Given the description of an element on the screen output the (x, y) to click on. 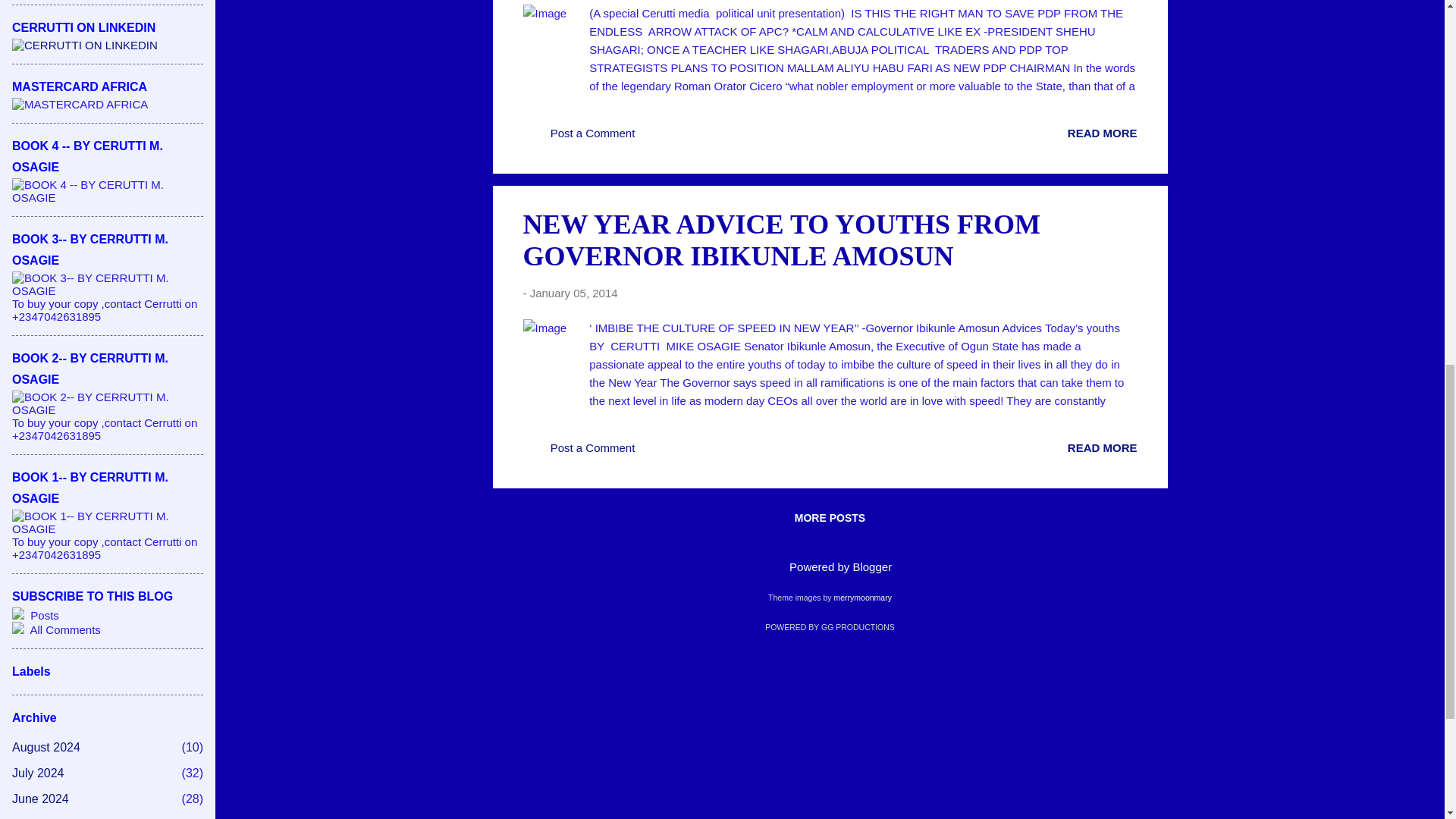
January 05, 2014 (573, 292)
READ MORE (1102, 447)
Powered by Blogger (829, 566)
MORE POSTS (829, 517)
READ MORE (1102, 132)
Post a Comment (578, 137)
merrymoonmary (861, 596)
Post a Comment (578, 452)
NEW YEAR ADVICE TO YOUTHS FROM GOVERNOR IBIKUNLE AMOSUN (781, 240)
